Given the description of an element on the screen output the (x, y) to click on. 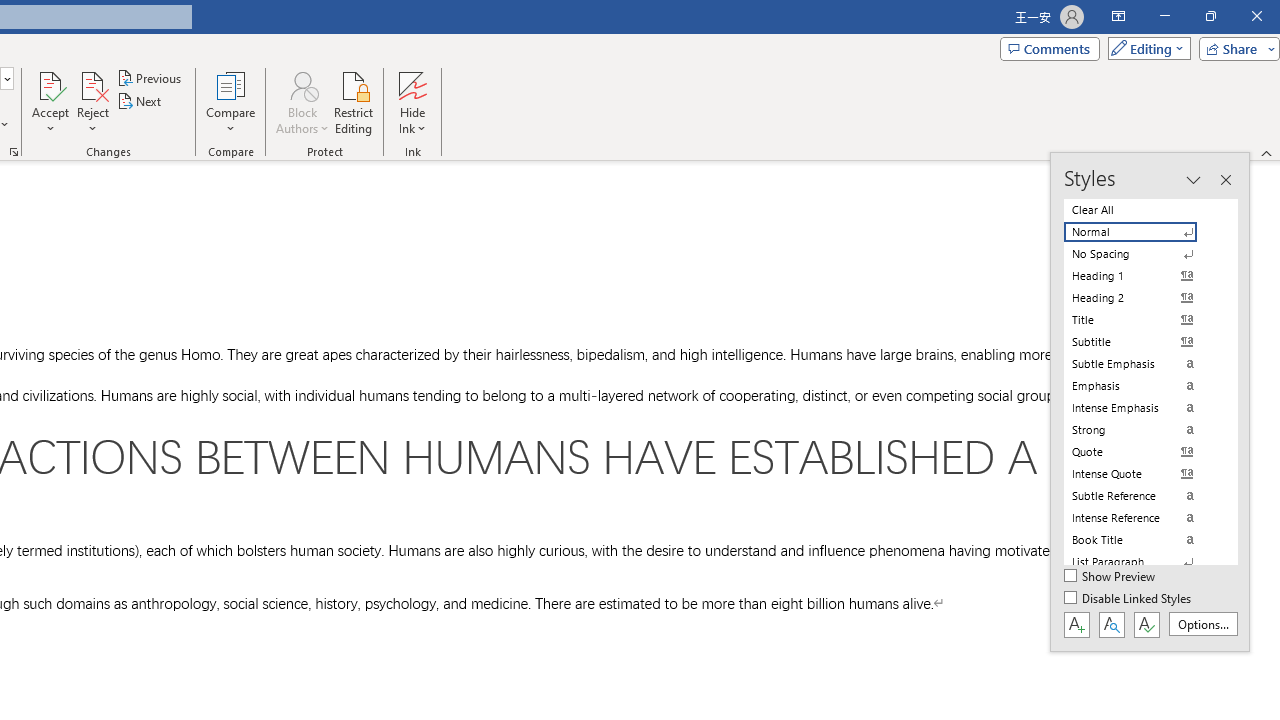
Compare (230, 102)
Quote (1142, 451)
Disable Linked Styles (1129, 599)
List Paragraph (1142, 561)
Reject (92, 102)
Subtle Emphasis (1142, 363)
Options... (1202, 623)
